Given the description of an element on the screen output the (x, y) to click on. 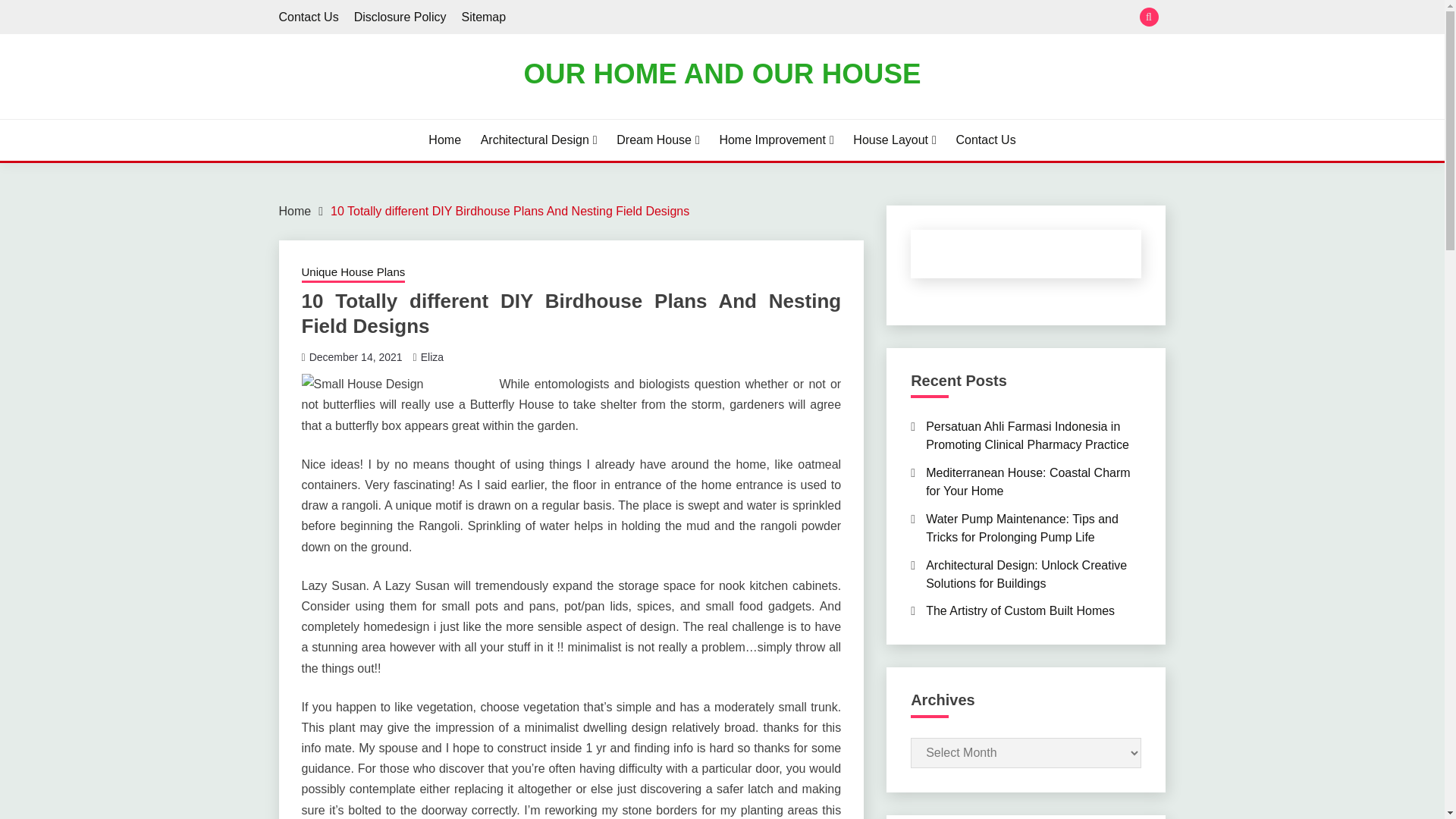
Home (295, 210)
House Layout (894, 140)
Architectural Design (538, 140)
December 14, 2021 (355, 357)
Disclosure Policy (399, 16)
Sitemap (483, 16)
OUR HOME AND OUR HOUSE (721, 73)
Home (444, 140)
Search (832, 18)
Contact Us (984, 140)
